Given the description of an element on the screen output the (x, y) to click on. 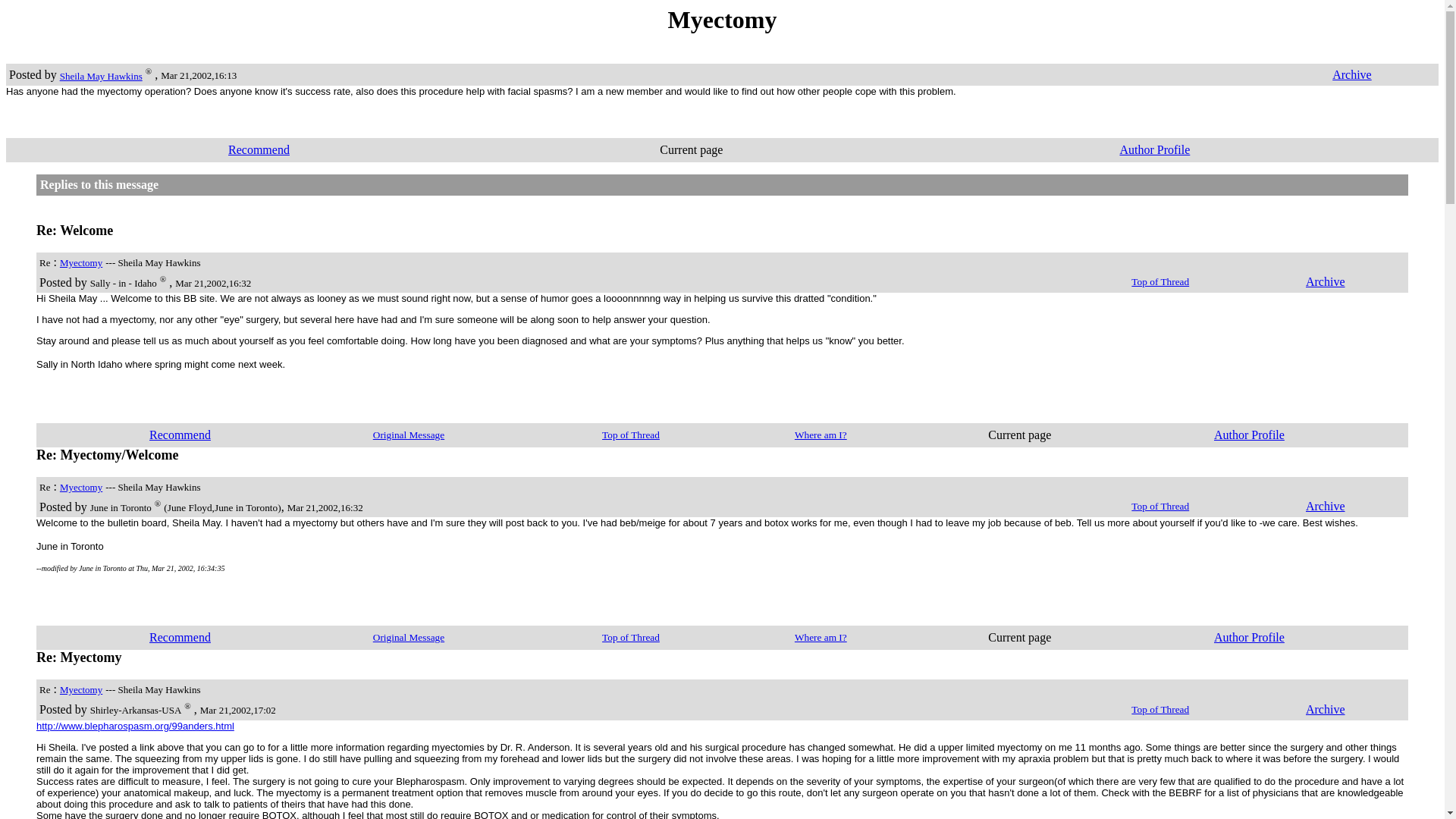
Archive (1351, 74)
Recommend (180, 636)
Myectomy (80, 486)
Myectomy (722, 19)
Author Profile (1249, 636)
Sheila May Hawkins (100, 74)
Top of Thread (1160, 707)
Top of Thread (1160, 504)
Current page (690, 149)
Current page (1019, 636)
Archive (1325, 708)
Myectomy (80, 688)
Top of Thread (630, 635)
Myectomy (80, 261)
Current page (1019, 434)
